Given the description of an element on the screen output the (x, y) to click on. 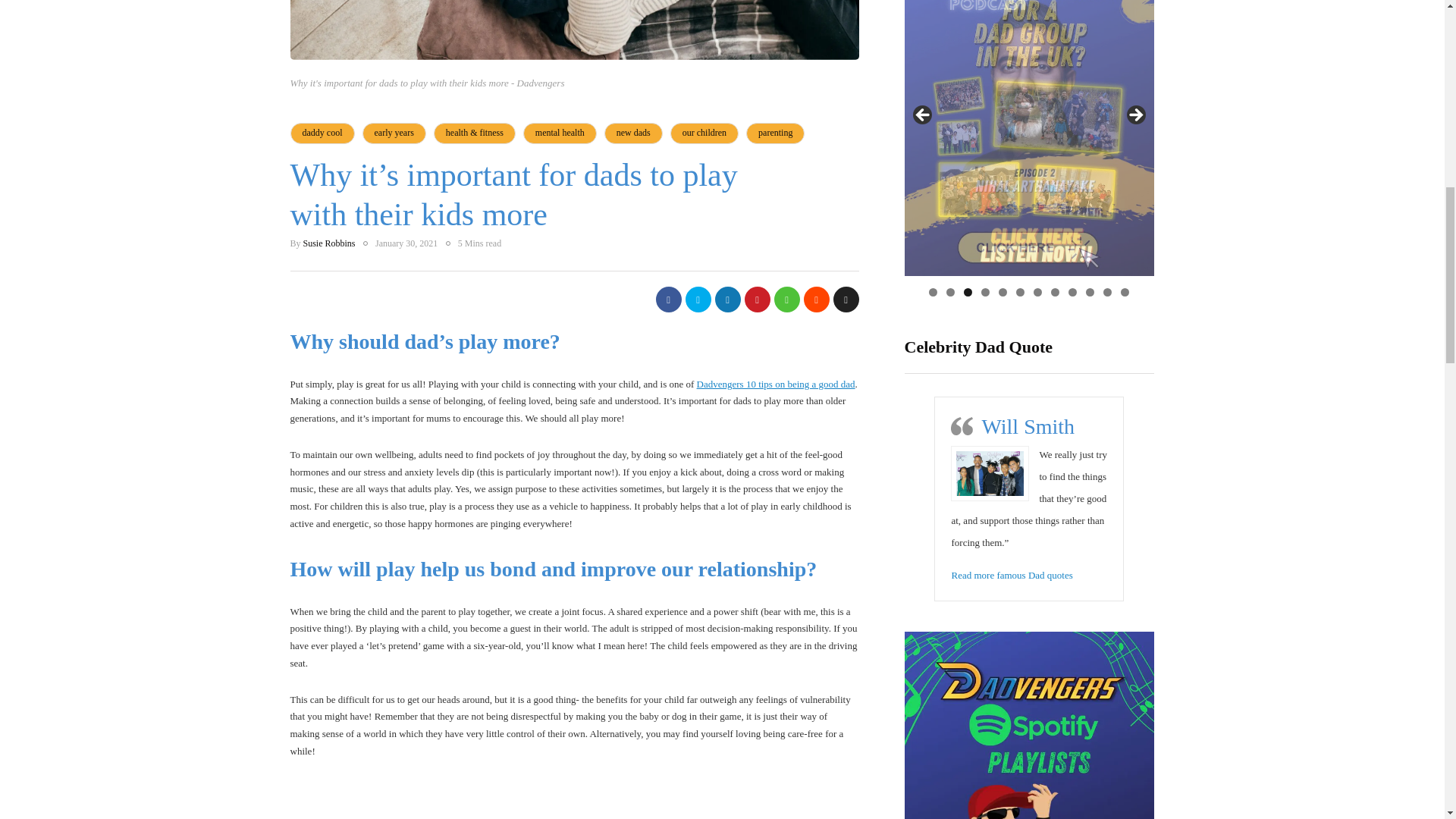
Share with Facebook (668, 299)
Share on Reddit (816, 299)
Share by Email (845, 299)
Share to WhatsApp (786, 299)
Posts by Susie Robbins (328, 243)
Tweet this (698, 299)
Pin this (757, 299)
Share with LinkedIn (726, 299)
